Given the description of an element on the screen output the (x, y) to click on. 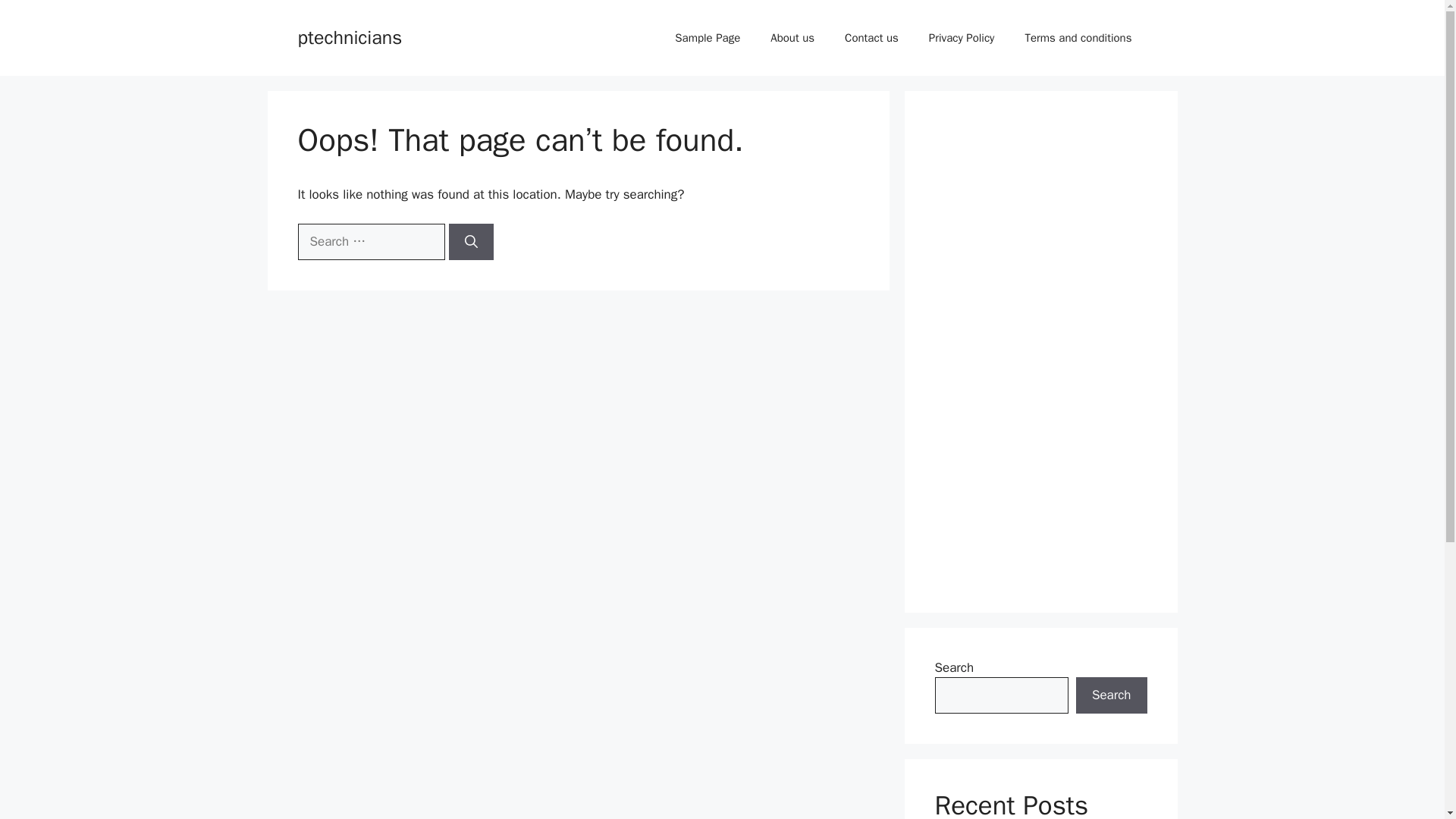
Contact us (871, 37)
Search for: (370, 241)
Privacy Policy (962, 37)
About us (792, 37)
Sample Page (707, 37)
ptechnicians (349, 37)
Terms and conditions (1078, 37)
Search (1111, 695)
